Given the description of an element on the screen output the (x, y) to click on. 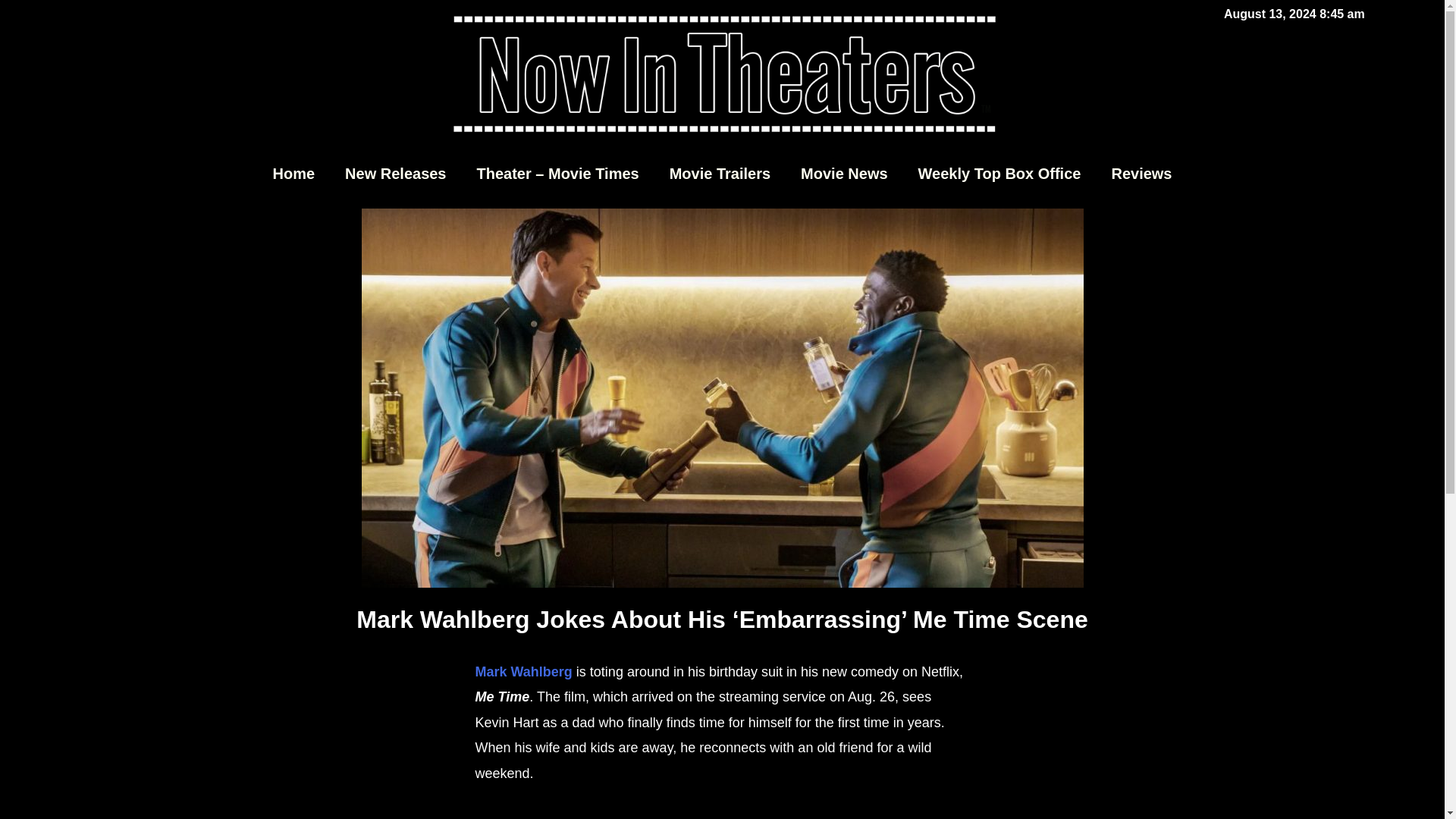
Movie News (844, 173)
Movie Trailers (719, 173)
Reviews (1141, 173)
Mark Wahlberg (523, 671)
Weekly Top Box Office (999, 173)
New Releases (395, 173)
Home (293, 173)
